Given the description of an element on the screen output the (x, y) to click on. 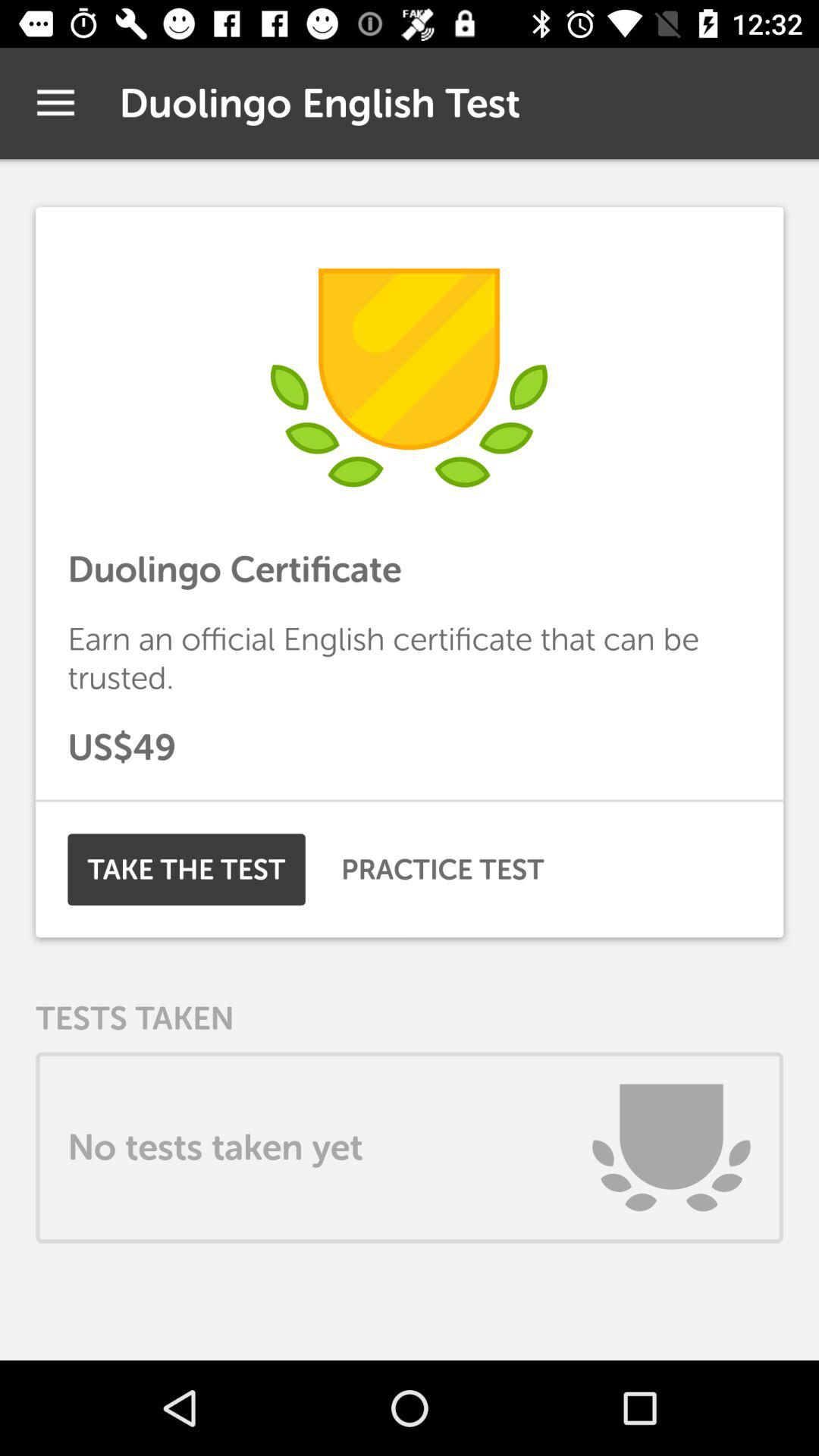
select the item to the right of the no tests taken icon (671, 1147)
